Given the description of an element on the screen output the (x, y) to click on. 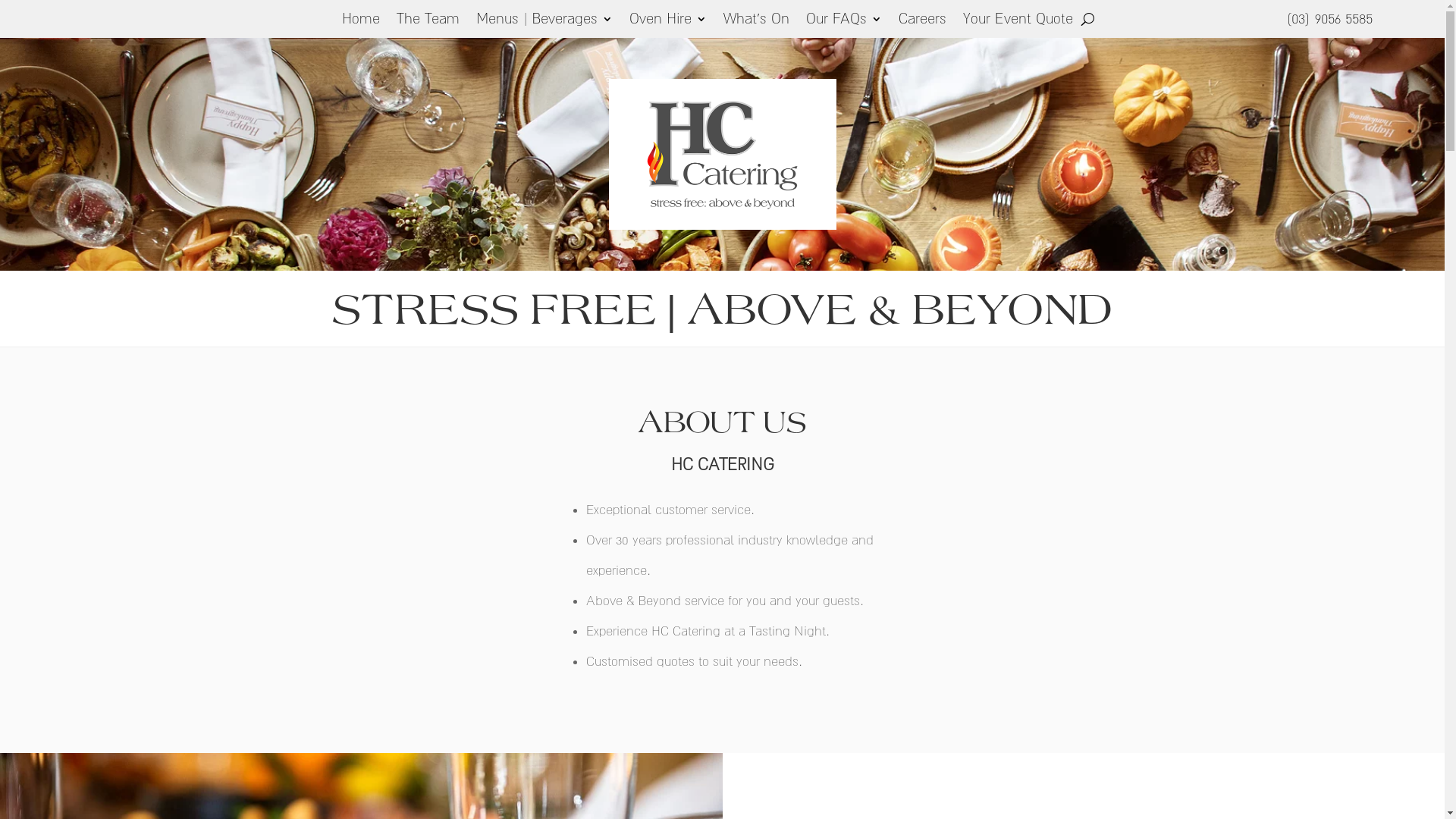
The Team Element type: text (427, 21)
HC Logo Light Element type: hover (721, 154)
Oven Hire Element type: text (667, 21)
Home Element type: text (360, 21)
Careers Element type: text (922, 21)
(03) 9056 5585 Element type: text (1329, 18)
Menus | Beverages Element type: text (544, 21)
Your Event Quote Element type: text (1018, 21)
Our FAQs Element type: text (843, 21)
